Given the description of an element on the screen output the (x, y) to click on. 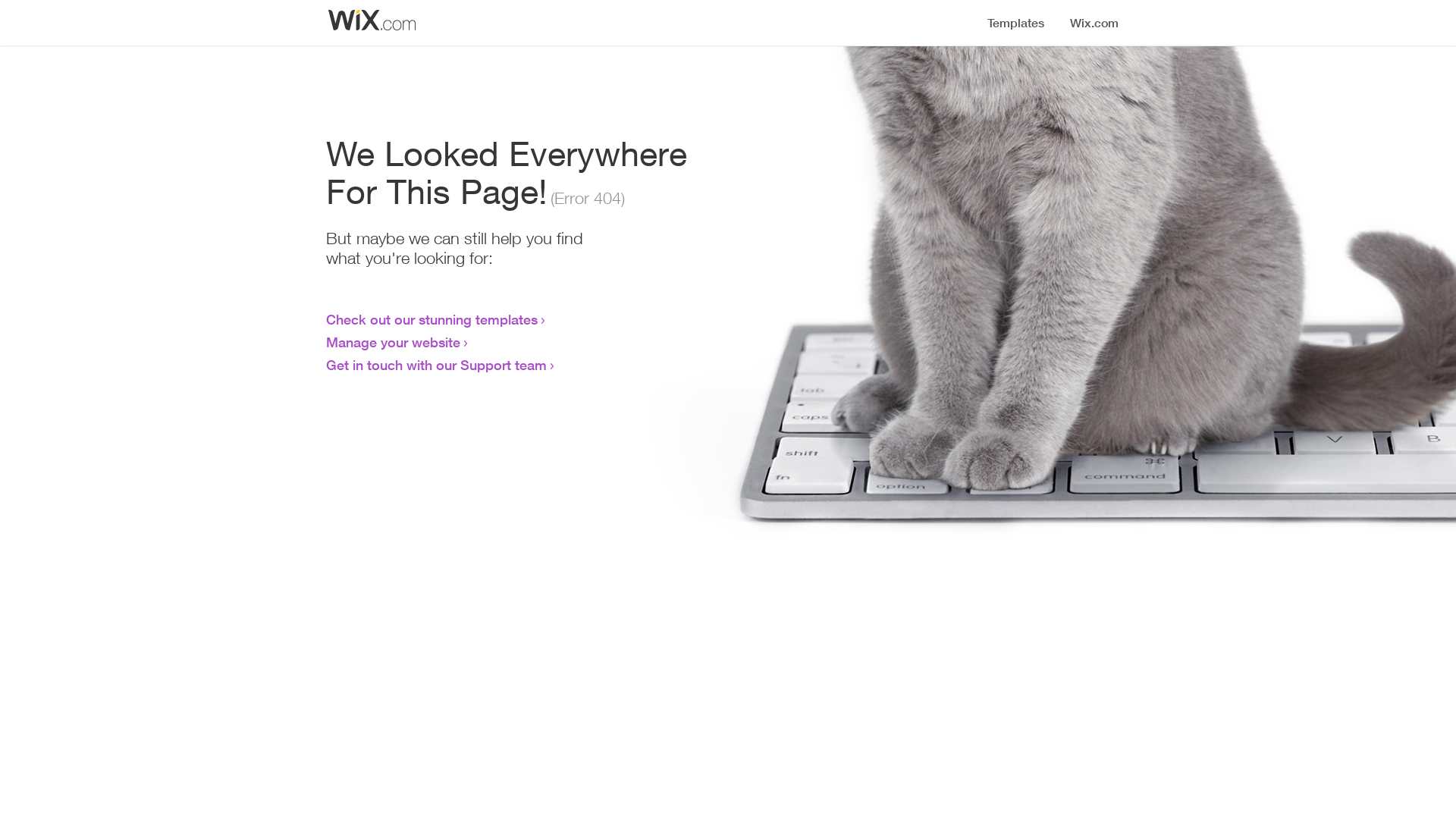
Get in touch with our Support team Element type: text (436, 364)
Manage your website Element type: text (393, 341)
Check out our stunning templates Element type: text (431, 318)
